Given the description of an element on the screen output the (x, y) to click on. 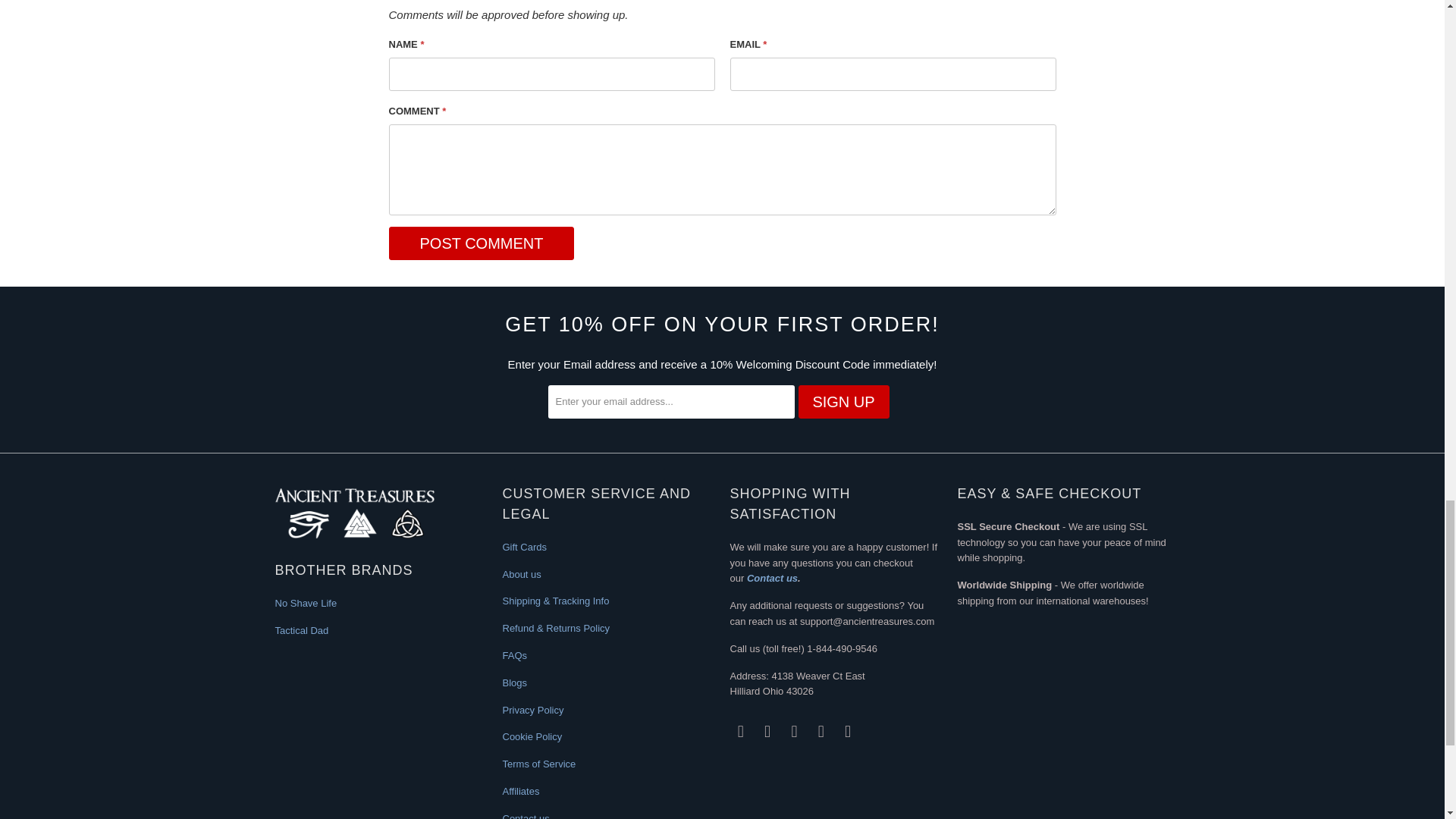
Sign Up (842, 401)
Post comment (480, 243)
